Given the description of an element on the screen output the (x, y) to click on. 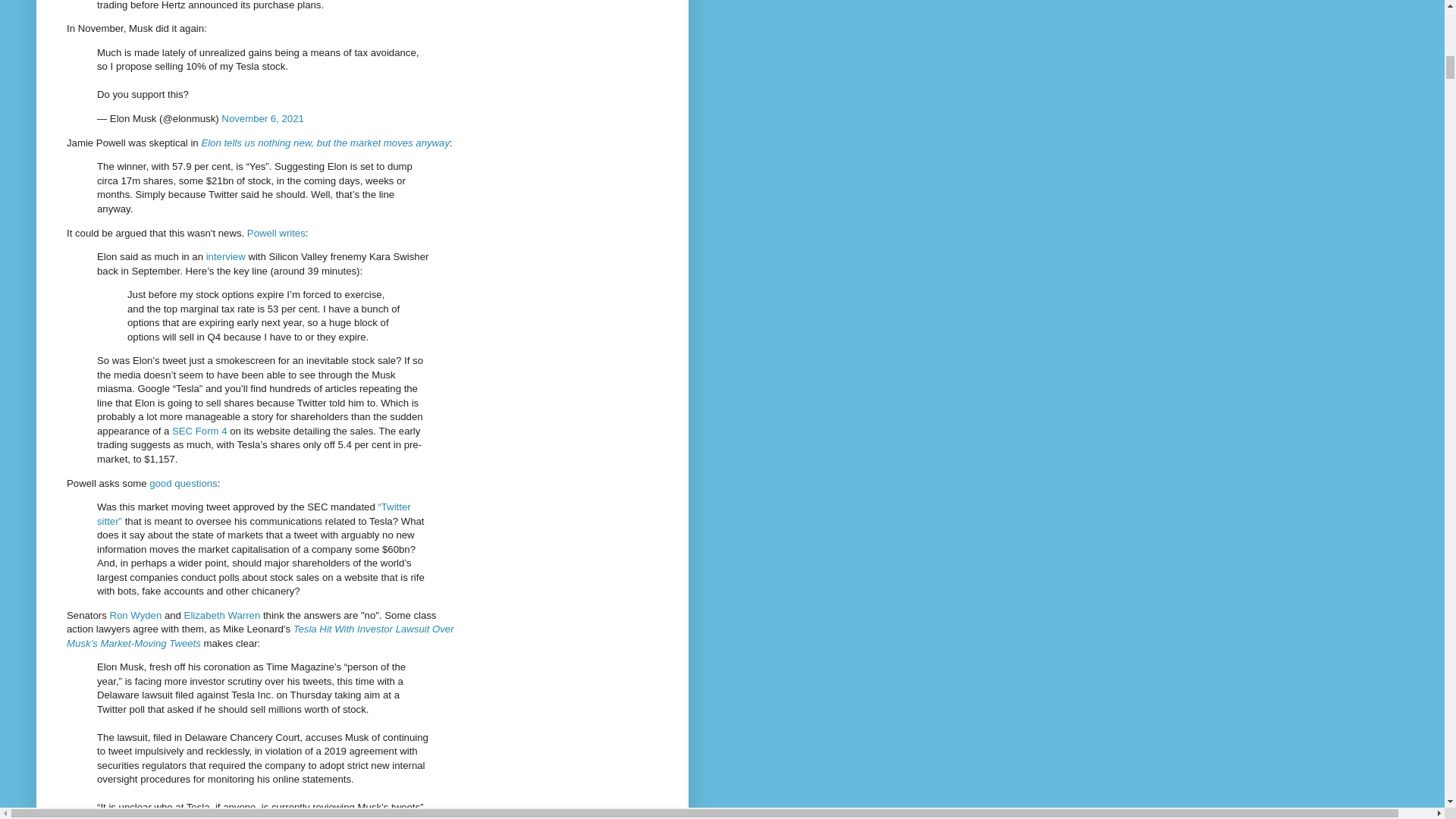
Ron Wyden (135, 614)
interview (226, 256)
Elon tells us nothing new, but the market moves anyway (324, 142)
good questions (182, 482)
Elizabeth Warren (222, 614)
November 6, 2021 (262, 118)
SEC Form 4 (199, 430)
Powell writes (276, 233)
